Given the description of an element on the screen output the (x, y) to click on. 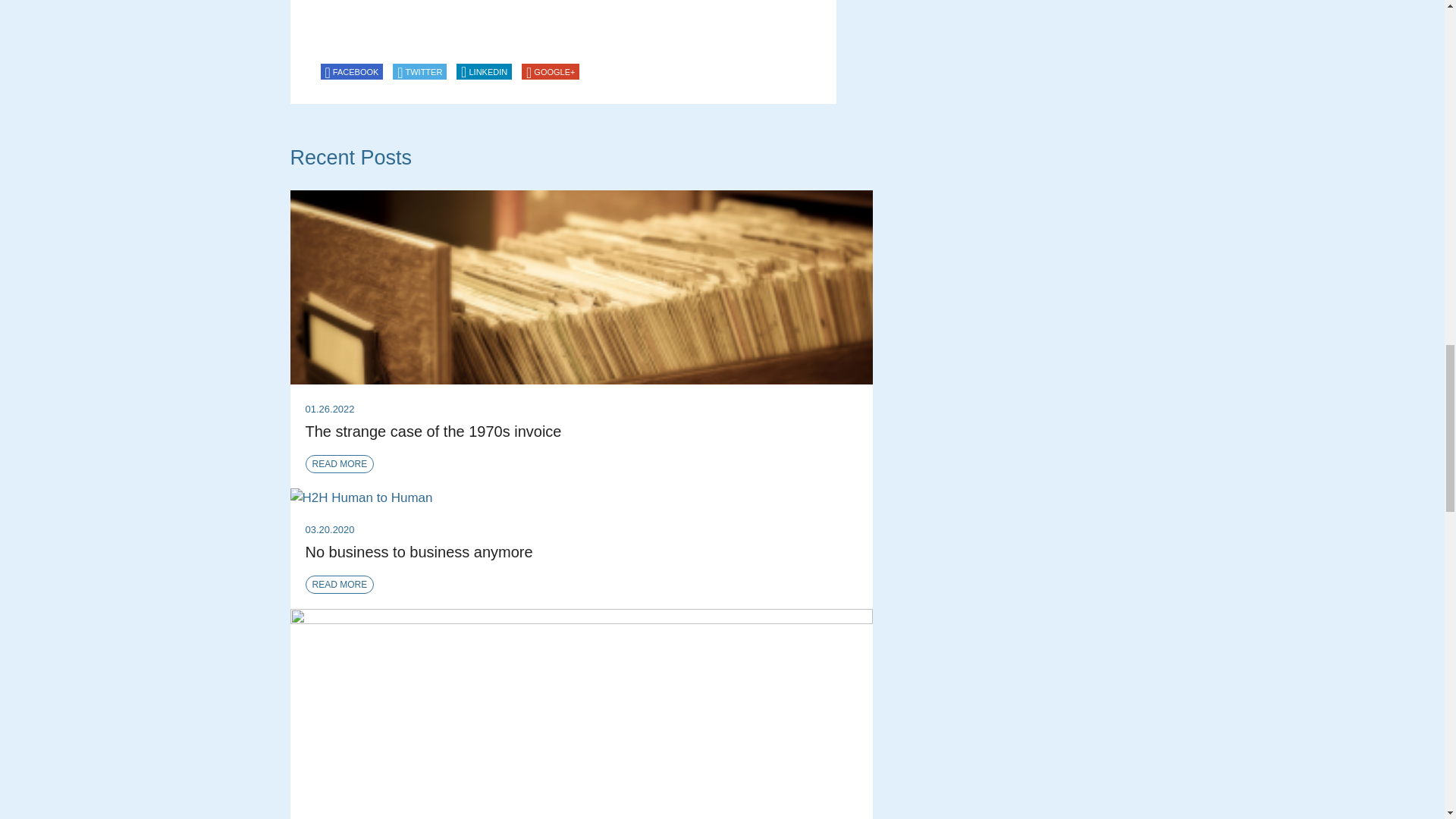
FACEBOOK (351, 71)
LINKEDIN (484, 71)
TWITTER (419, 71)
